Given the description of an element on the screen output the (x, y) to click on. 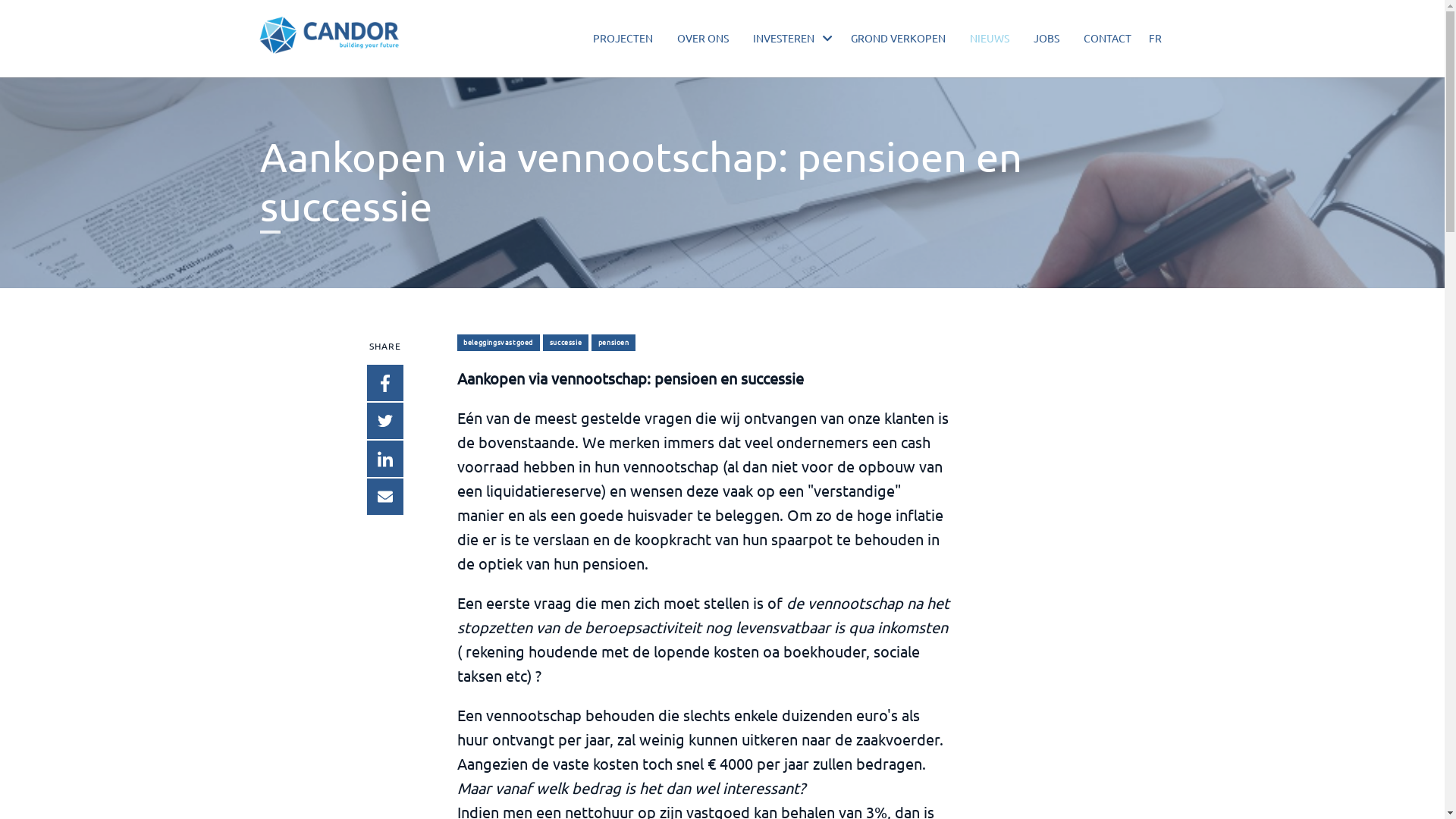
GROND VERKOPEN Element type: text (897, 38)
beleggingsvastgoed Element type: text (497, 342)
PROJECTEN Element type: text (622, 38)
JOBS Element type: text (1046, 38)
candor_default_mail.png Element type: hover (328, 35)
pensioen Element type: text (613, 342)
successie Element type: text (565, 342)
OVER ONS Element type: text (702, 38)
CONTACT Element type: text (1107, 38)
NIEUWS Element type: text (989, 38)
FR Element type: text (1163, 38)
INVESTEREN Element type: text (783, 38)
